Given the description of an element on the screen output the (x, y) to click on. 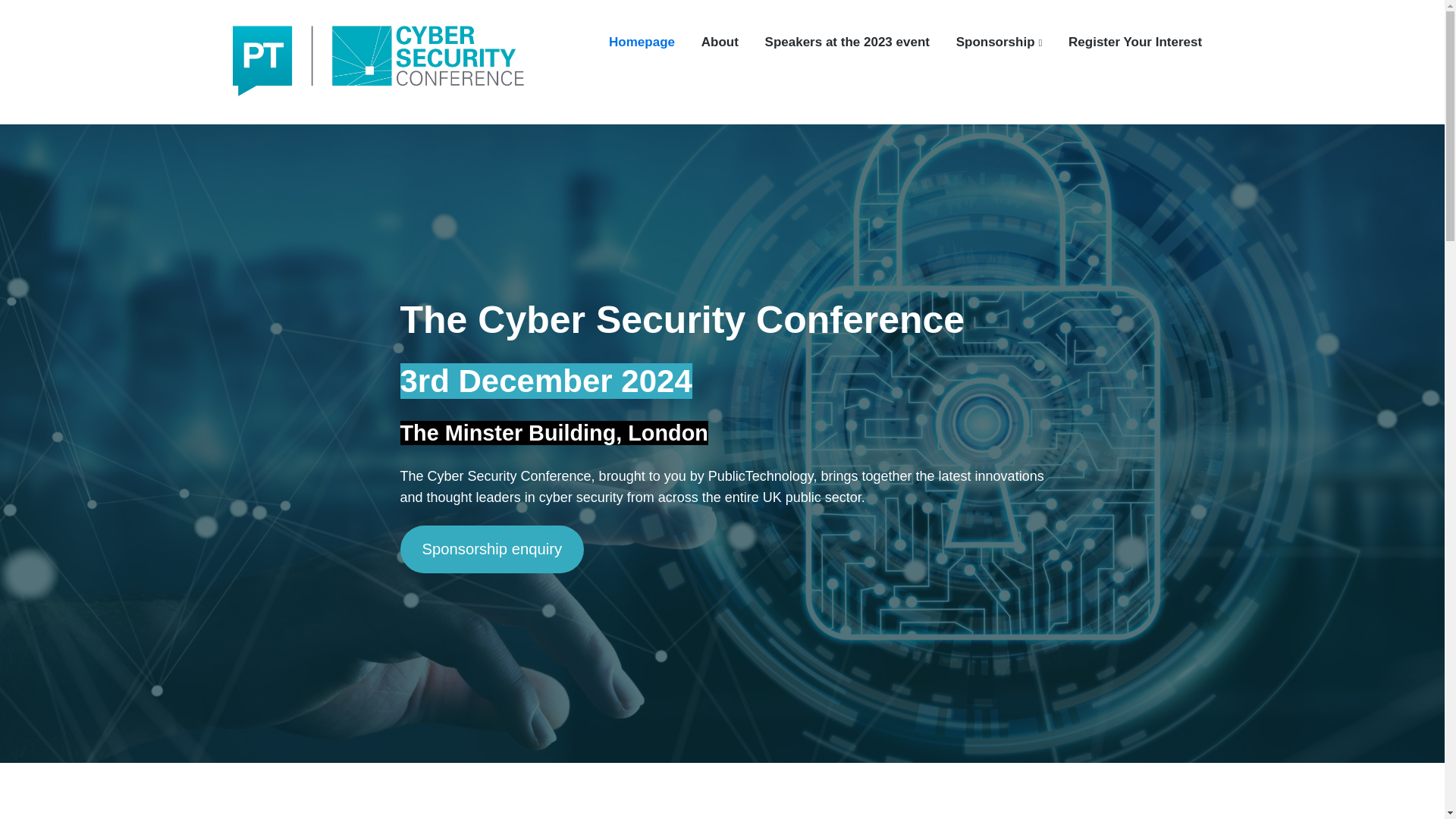
About (719, 42)
Sponsorship enquiry (492, 549)
Sponsorship (999, 42)
Homepage (641, 42)
Speakers at the 2023 event (847, 42)
Cyber Security Conference 2024 (357, 124)
Register Your Interest (1135, 42)
